Given the description of an element on the screen output the (x, y) to click on. 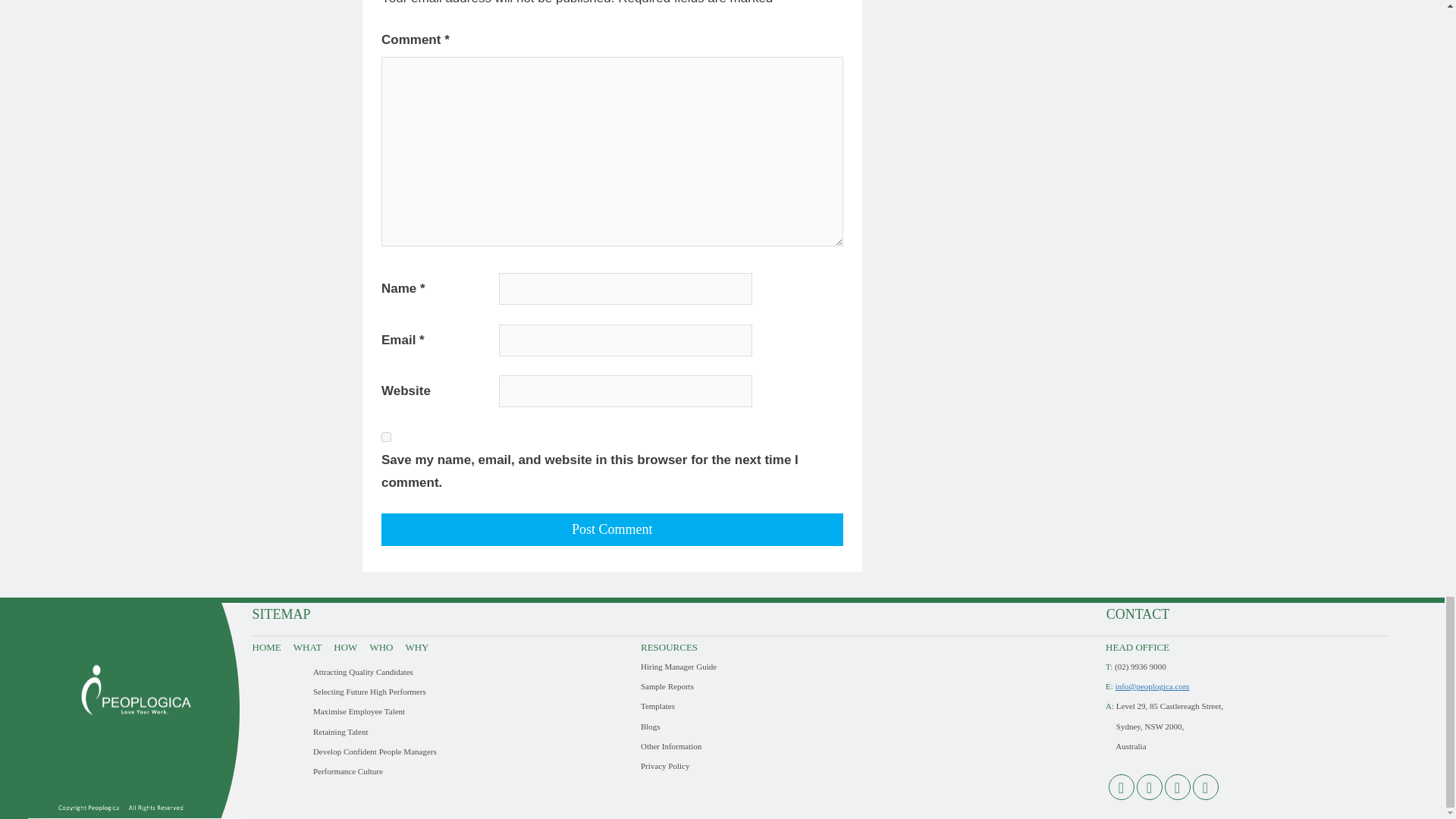
Rss (1121, 786)
Twitter (1177, 786)
Post Comment (612, 529)
Post Comment (612, 529)
yes (386, 437)
Linkedin (1148, 786)
